Given the description of an element on the screen output the (x, y) to click on. 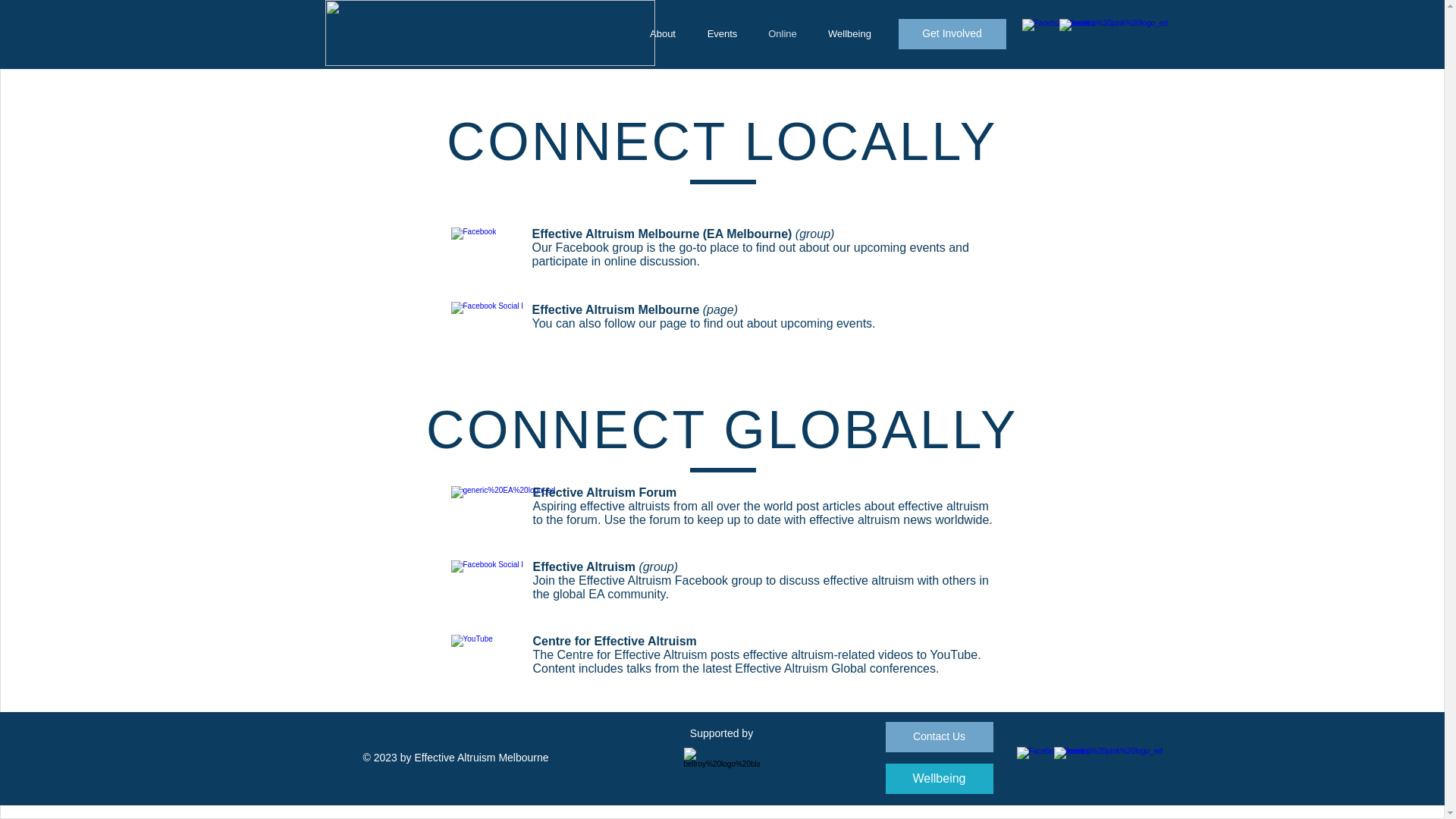
Get Involved (952, 33)
Events (721, 33)
Contact Us (938, 736)
About (663, 33)
Wellbeing (938, 778)
Wellbeing (849, 33)
Online (782, 33)
Get Involved (930, 33)
